Given the description of an element on the screen output the (x, y) to click on. 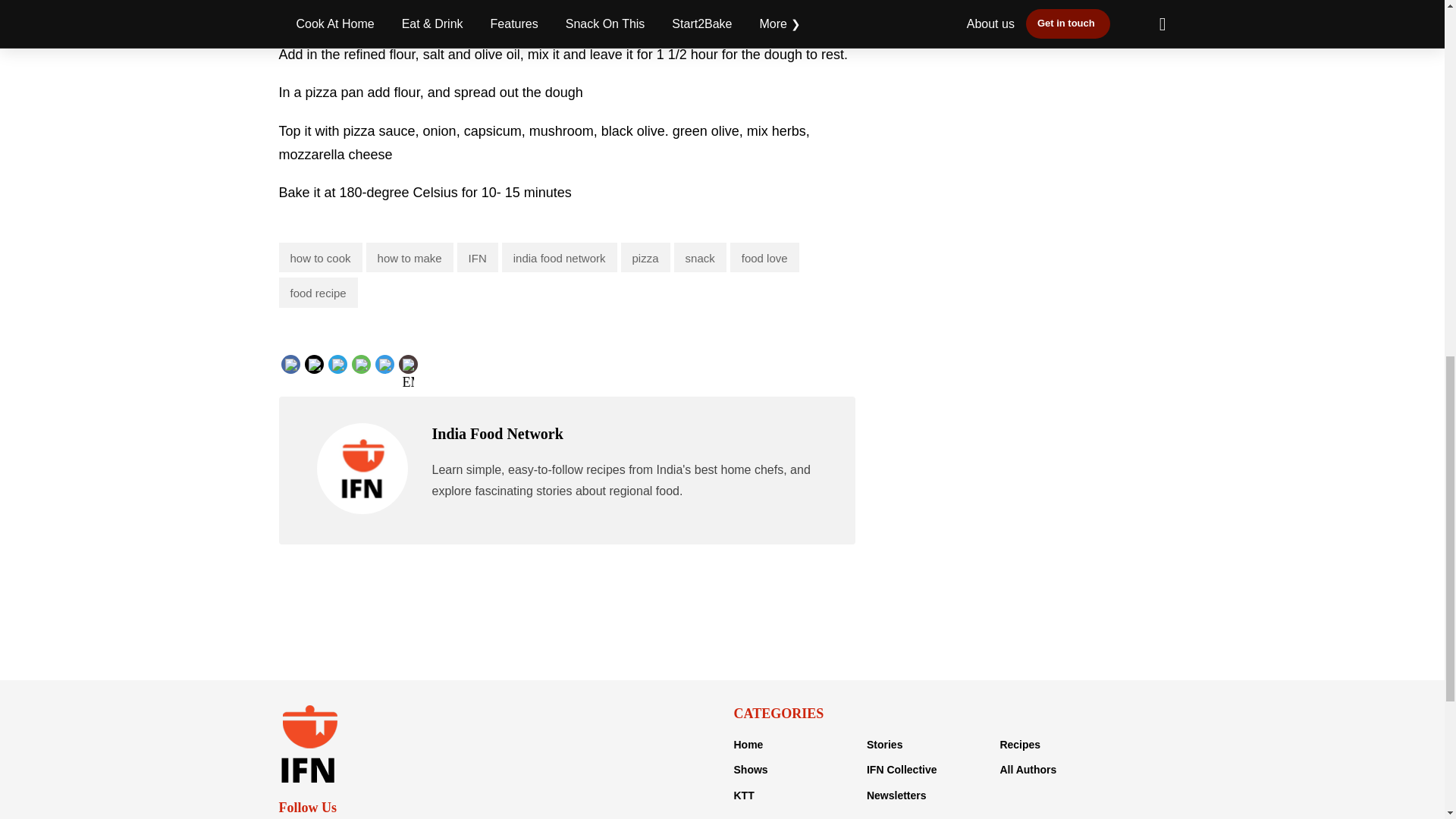
twitter (337, 375)
linkedin (364, 375)
Share by Email (407, 365)
telegram (415, 375)
Facebook (321, 362)
LinkedIn (363, 362)
facebook (321, 375)
whatsapp (390, 375)
Twitter (338, 362)
